Given the description of an element on the screen output the (x, y) to click on. 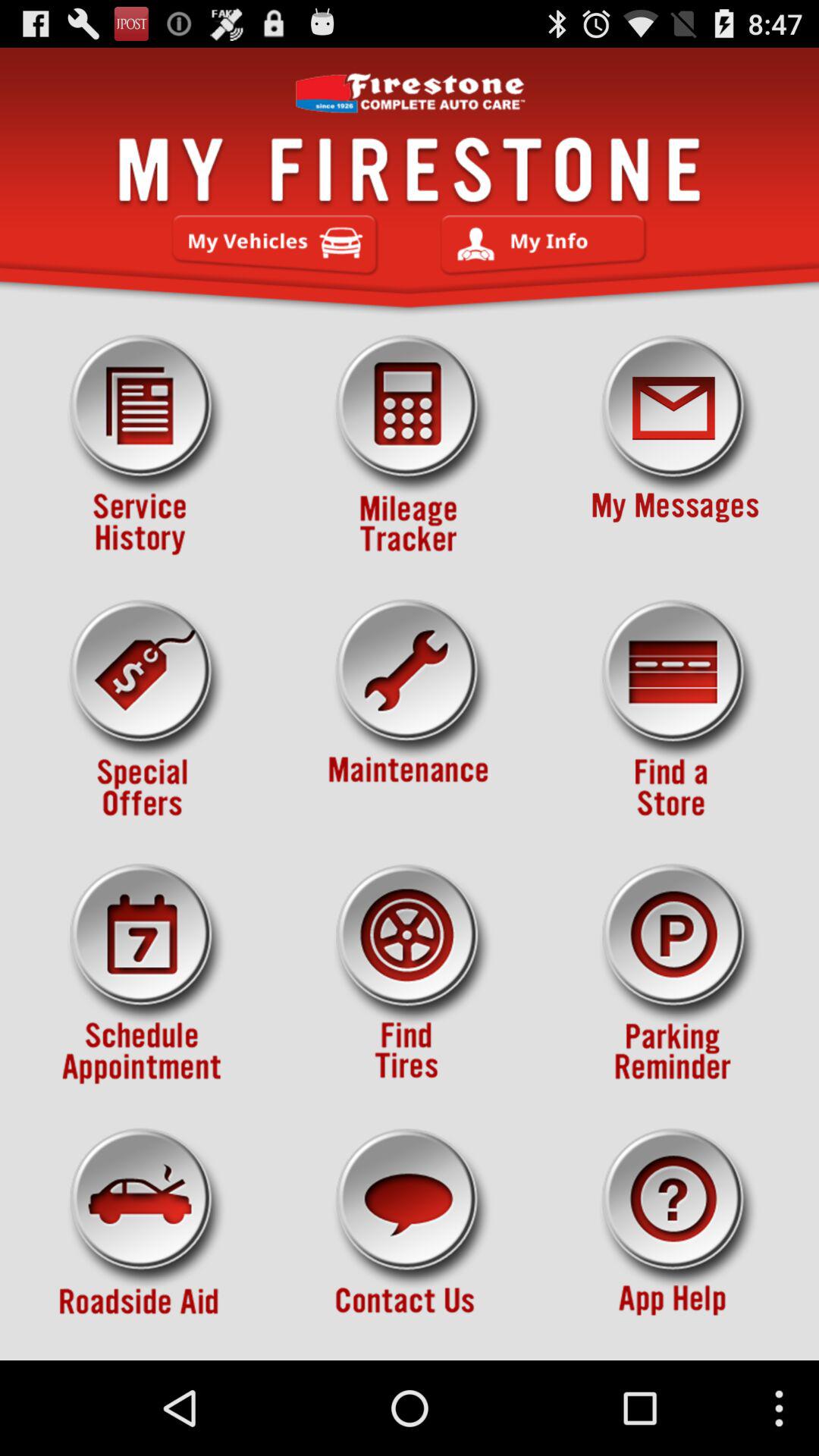
roadside aid option (143, 1238)
